Given the description of an element on the screen output the (x, y) to click on. 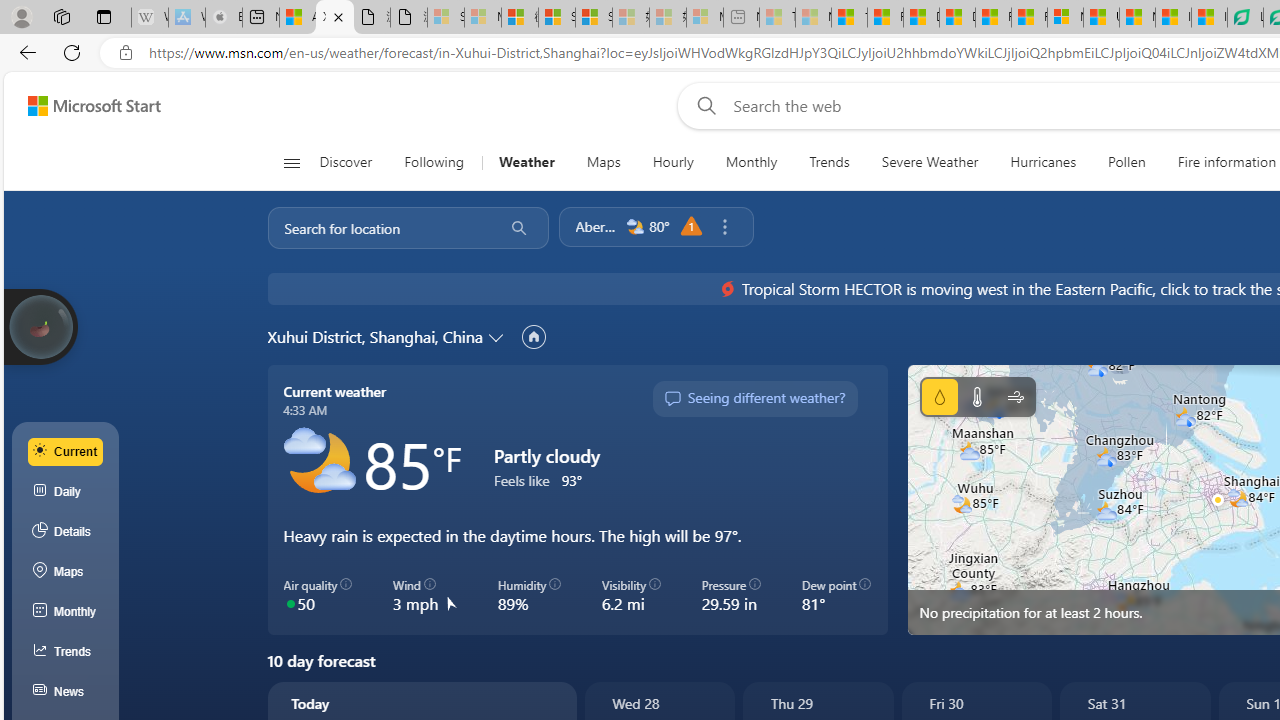
Humidity 89% (528, 595)
Open navigation menu (291, 162)
Visibility 6.2 mi (630, 595)
Foo BAR | Trusted Community Engagement and Contributions (1029, 17)
Trends (829, 162)
Class: aqiColorCycle-DS-EntryPoint1-1 (290, 602)
Partly cloudy (318, 462)
Wind (1015, 396)
Set as primary location (533, 336)
Hourly (672, 162)
Severe Weather (929, 162)
Change location (497, 336)
Top Stories - MSN - Sleeping (777, 17)
US Heat Deaths Soared To Record High Last Year (1101, 17)
